Given the description of an element on the screen output the (x, y) to click on. 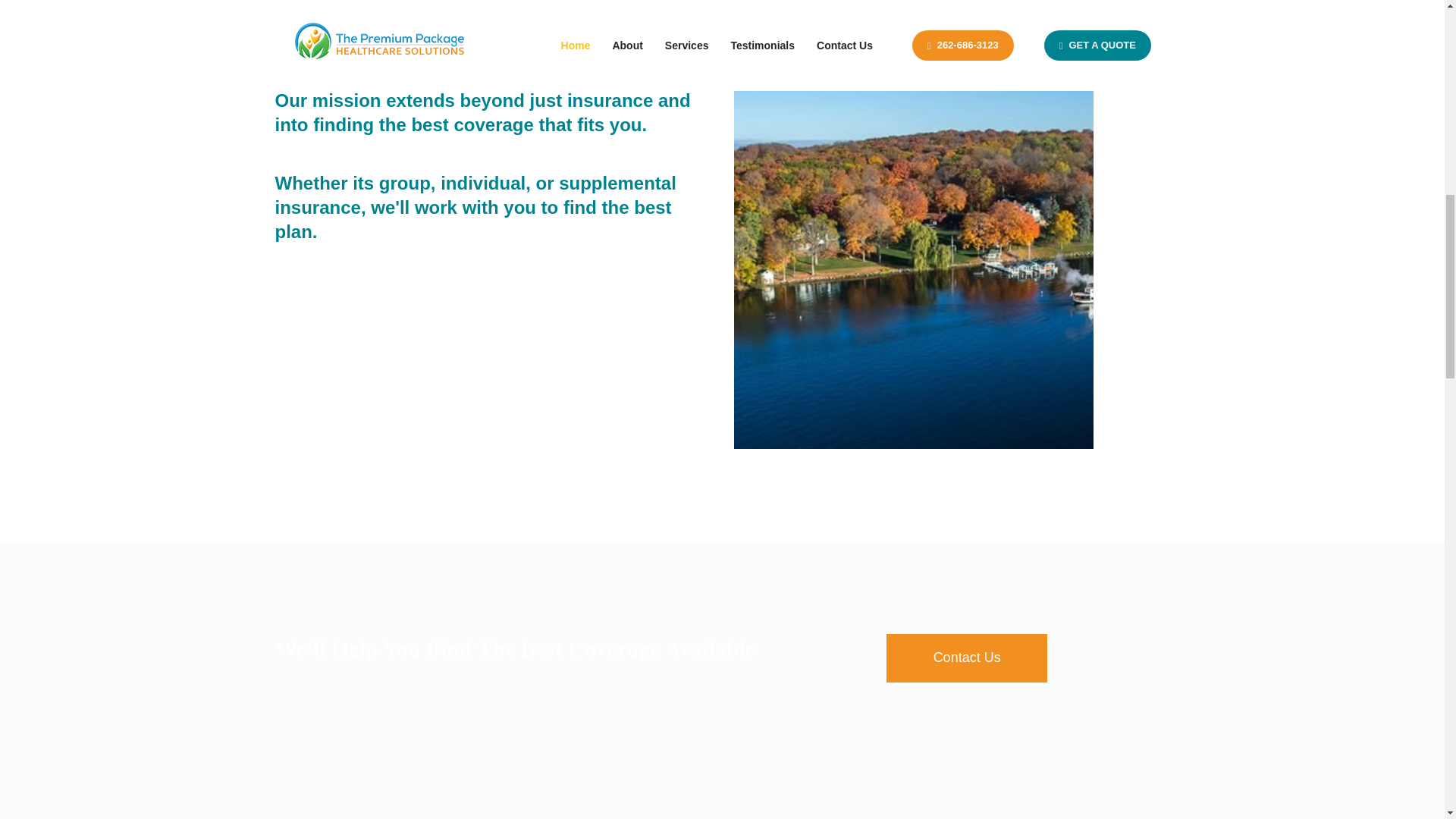
Contact Us (966, 657)
Contact Us (966, 657)
